Given the description of an element on the screen output the (x, y) to click on. 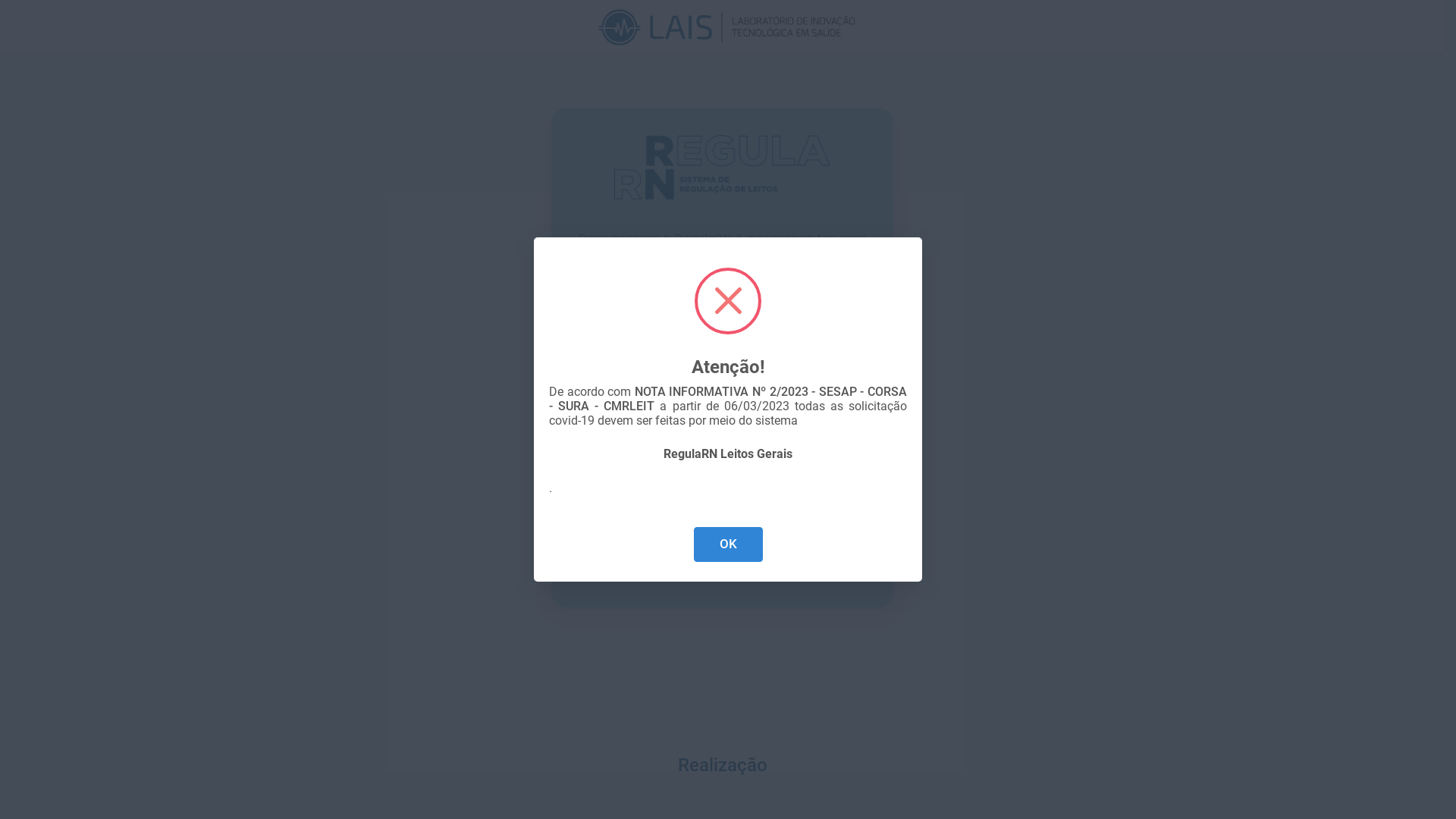
OK Element type: text (727, 544)
RegulaRN Leitos Gerais Element type: text (727, 453)
Cadastro Integrante NIR Element type: text (706, 561)
